Given the description of an element on the screen output the (x, y) to click on. 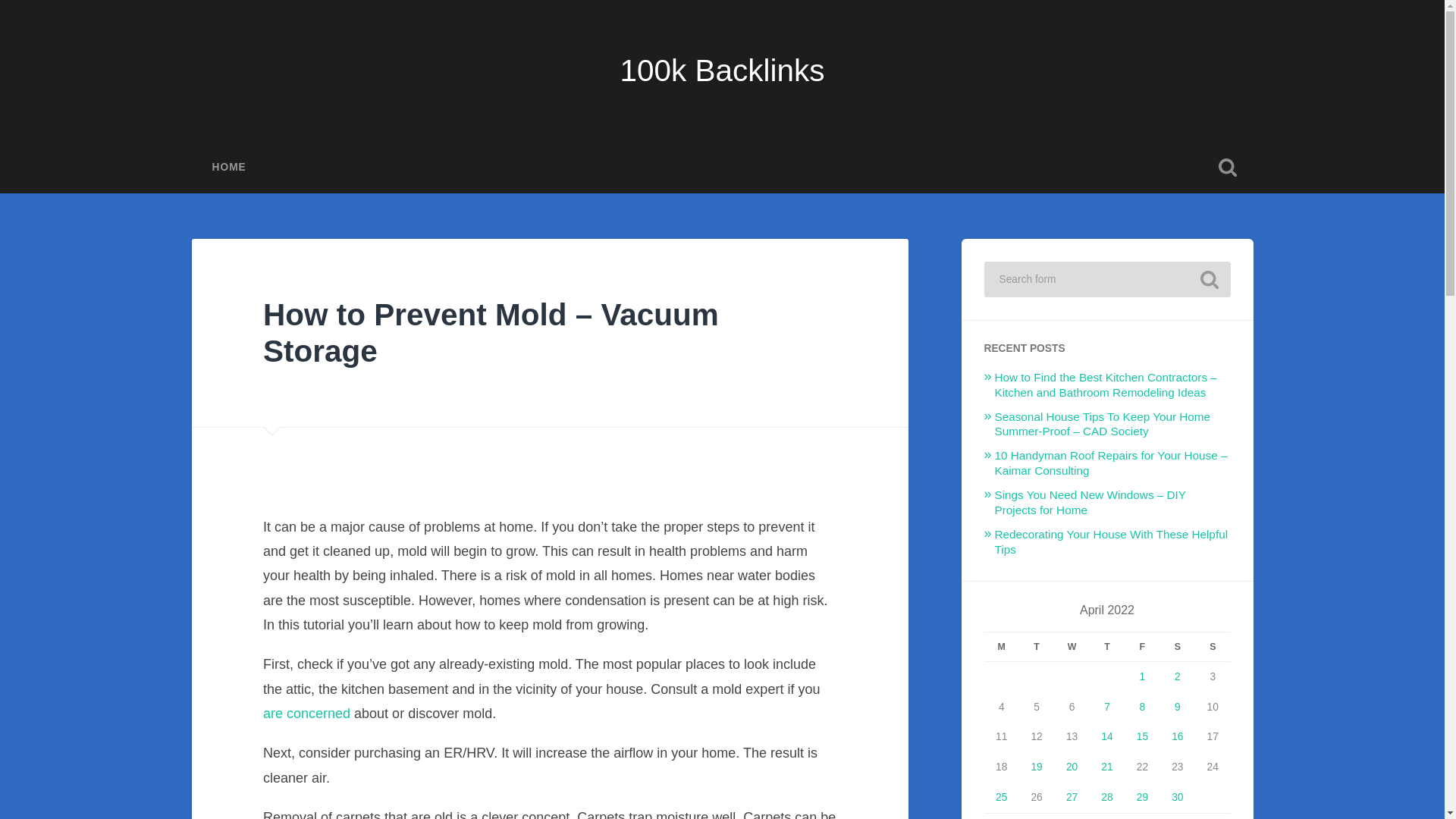
21 (1106, 767)
Wednesday (1071, 645)
15 (1142, 736)
19 (1036, 767)
Redecorating Your House With These Helpful Tips (1111, 541)
Search (1209, 278)
Friday (1141, 645)
HOME (228, 167)
Monday (1001, 645)
30 (1177, 797)
